Given the description of an element on the screen output the (x, y) to click on. 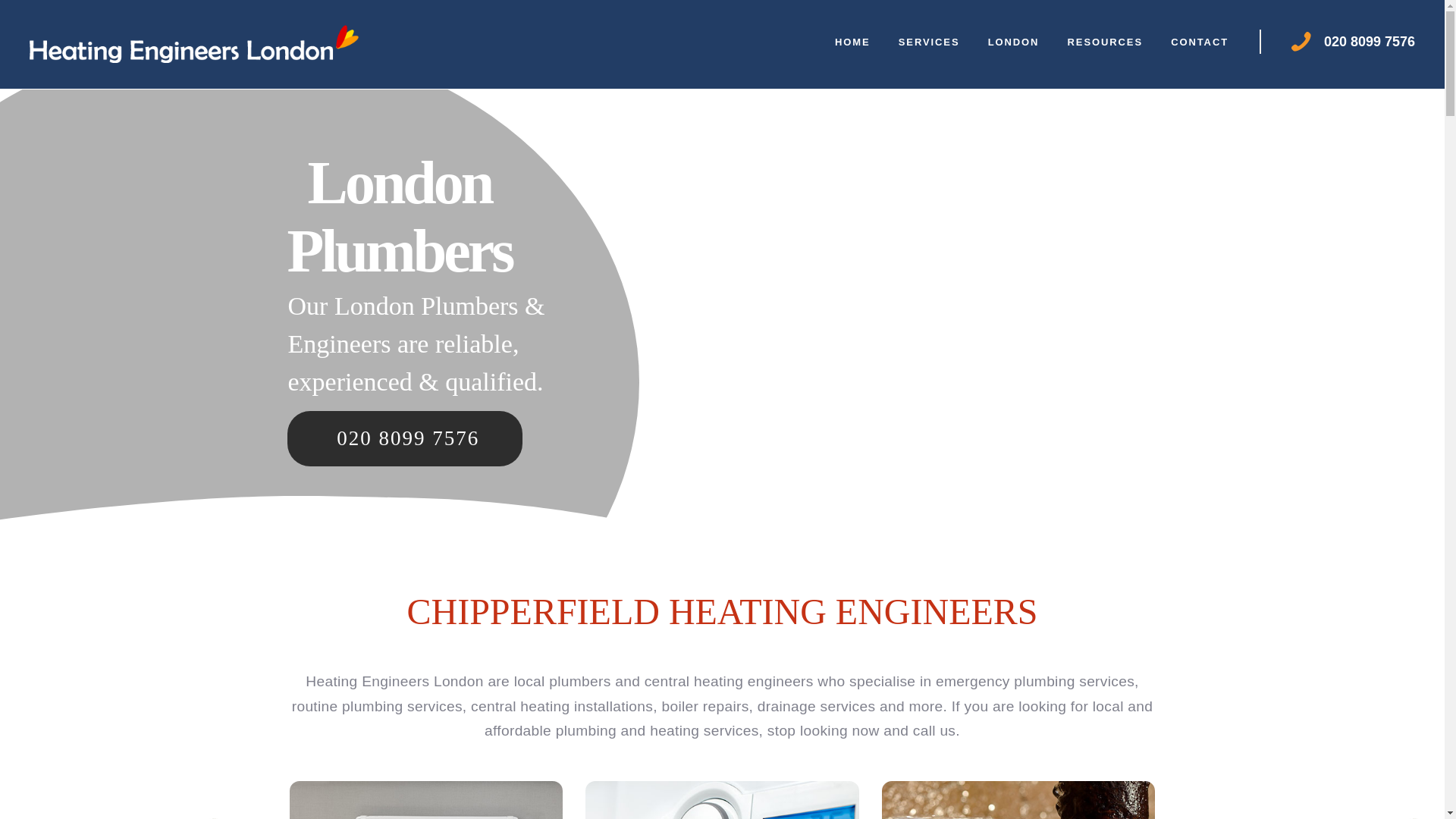
SERVICES (928, 41)
CONTACT (1200, 41)
central-heating-repairs-london (425, 800)
london-plumbers (1018, 800)
boiler-repair-install-london (722, 800)
HOME (852, 41)
020 8099 7576 (1369, 41)
RESOURCES (1104, 41)
LONDON (1013, 41)
